Given the description of an element on the screen output the (x, y) to click on. 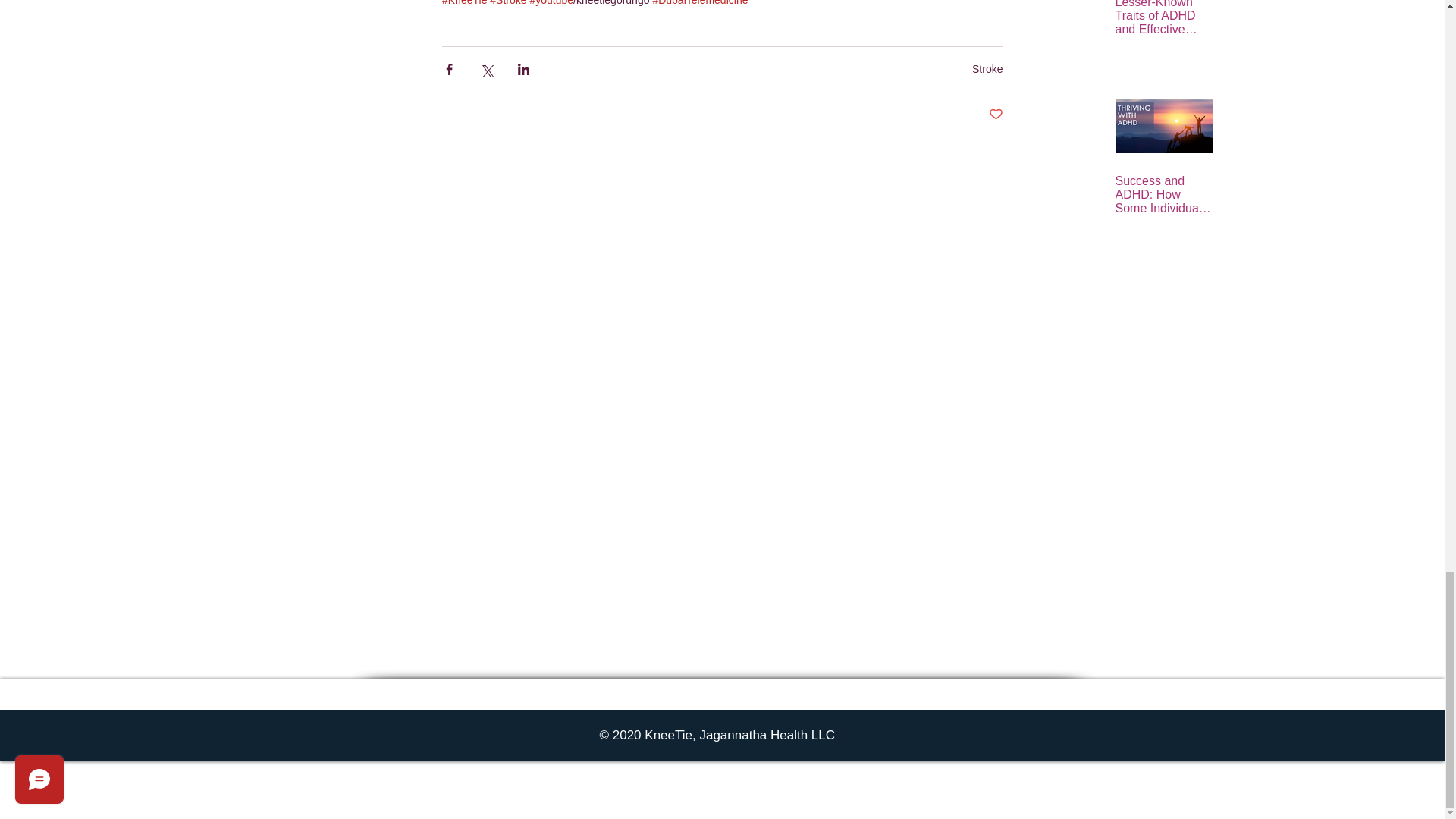
Post not marked as liked (995, 114)
Stroke (987, 69)
